Given the description of an element on the screen output the (x, y) to click on. 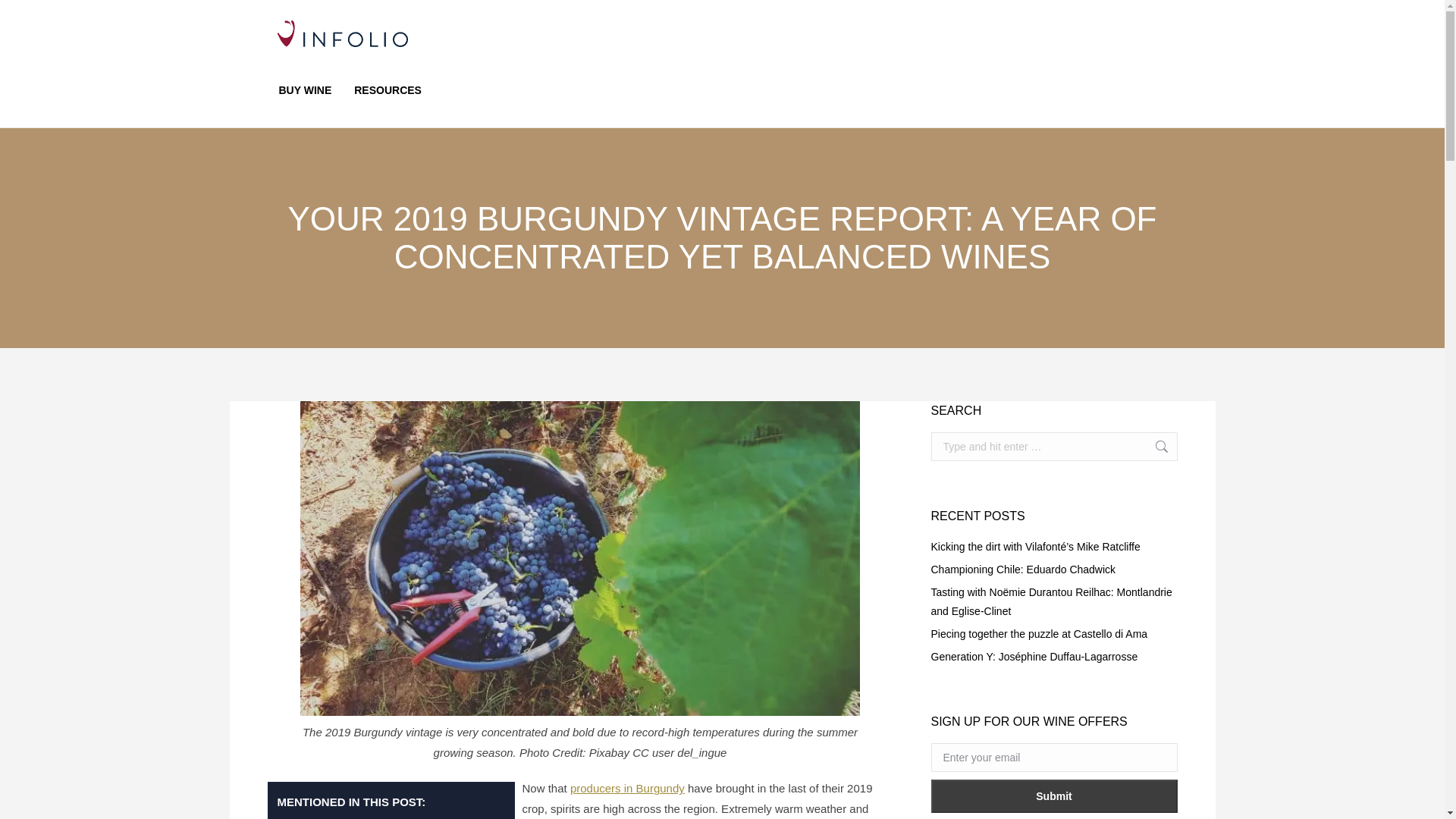
RESOURCES (387, 90)
BUY WINE (304, 90)
Go! (1153, 446)
producers in Burgundy (627, 788)
Enter your email (1054, 757)
Go! (1153, 446)
Submit (1054, 796)
